Given the description of an element on the screen output the (x, y) to click on. 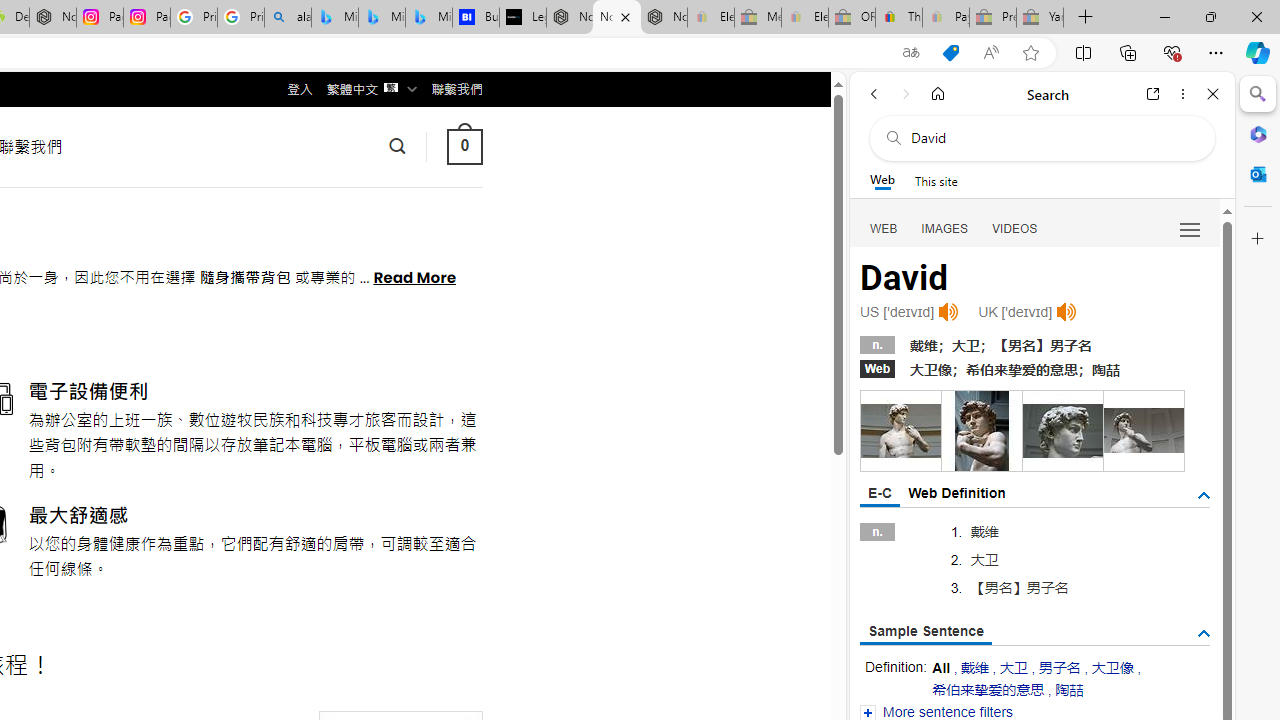
Preferences (1189, 228)
AutomationID: emb3292B07DF (1143, 430)
AutomationID: emb108120814 (981, 430)
Press Room - eBay Inc. - Sleeping (993, 17)
Search Filter, IMAGES (944, 228)
